Given the description of an element on the screen output the (x, y) to click on. 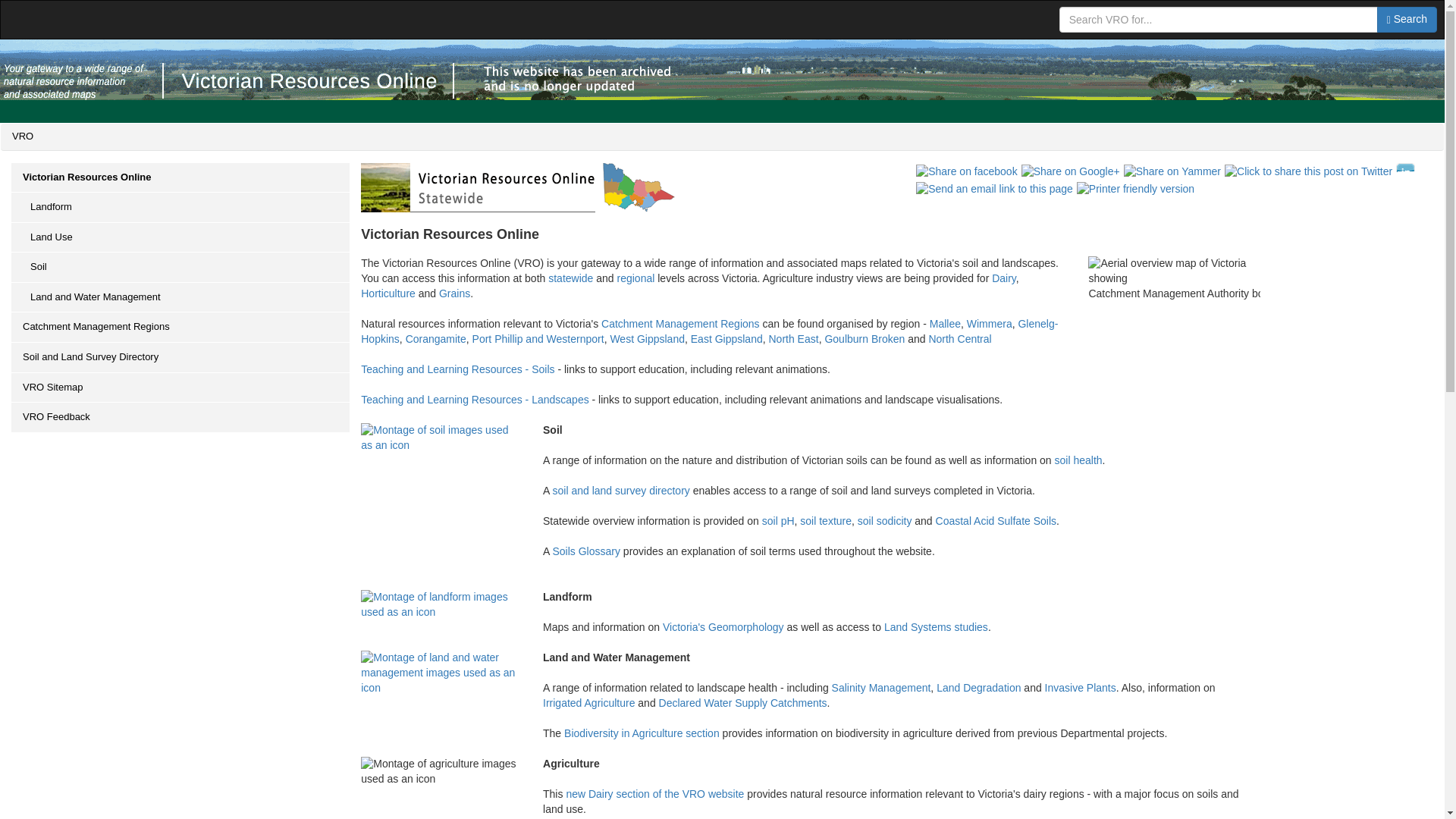
Catchment Management Regions (180, 327)
Wimmera (988, 323)
East Gippsland (726, 338)
Catchment Management Regions (680, 323)
Soil (180, 267)
Landform (180, 207)
Horticulture (387, 293)
VRO Feedback (180, 417)
Grains (454, 293)
Teaching and Learning Resources - Soils (457, 369)
